Given the description of an element on the screen output the (x, y) to click on. 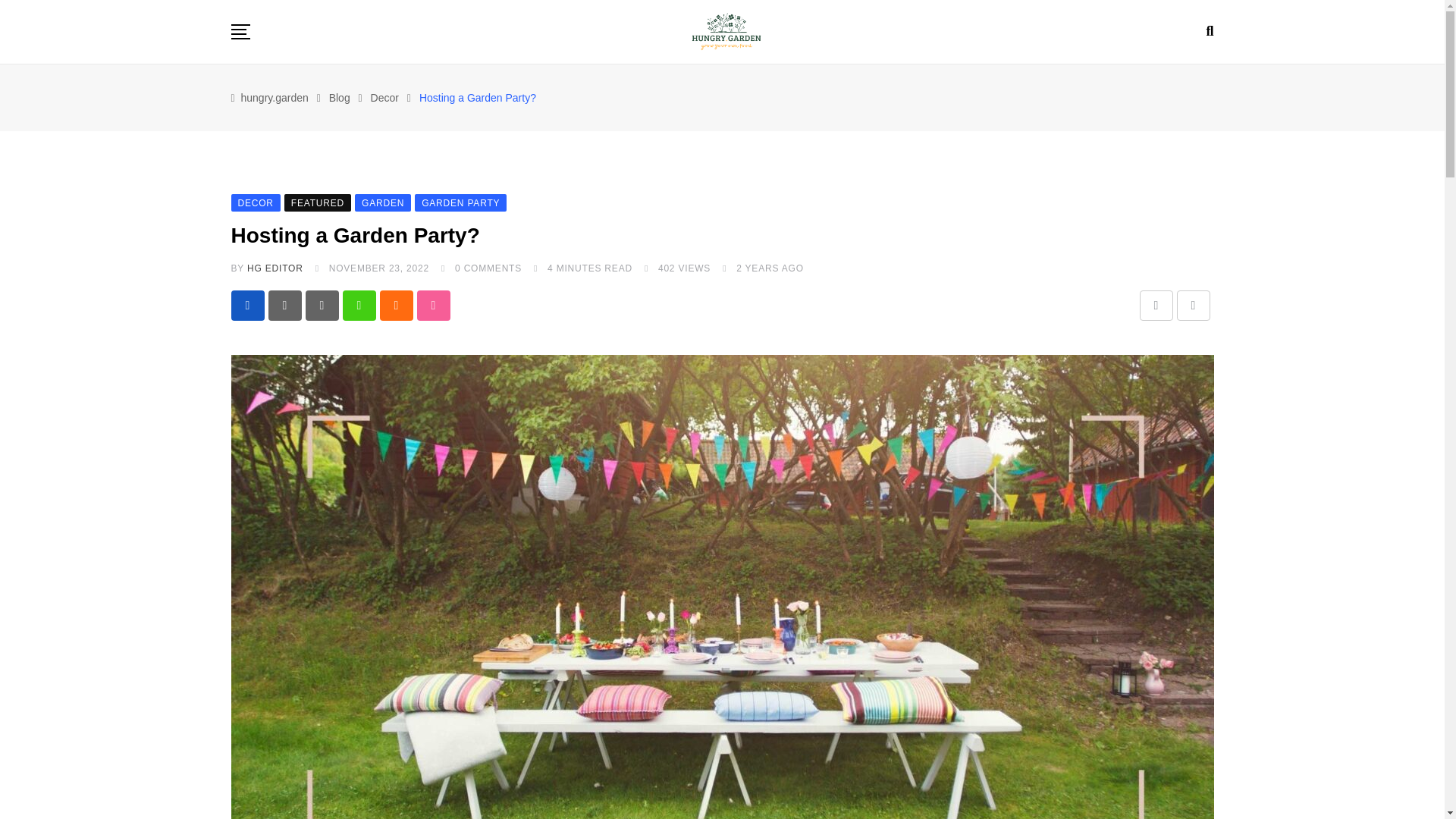
Go to Blog. (339, 97)
Print (1192, 305)
GARDEN (382, 201)
Go to the Decor category archives. (384, 97)
Go to hungry.garden. (274, 97)
hungry.garden (274, 97)
HG EDITOR (274, 267)
StumbleUpon (432, 305)
Share via Email (1155, 305)
GARDEN PARTY (460, 201)
